Given the description of an element on the screen output the (x, y) to click on. 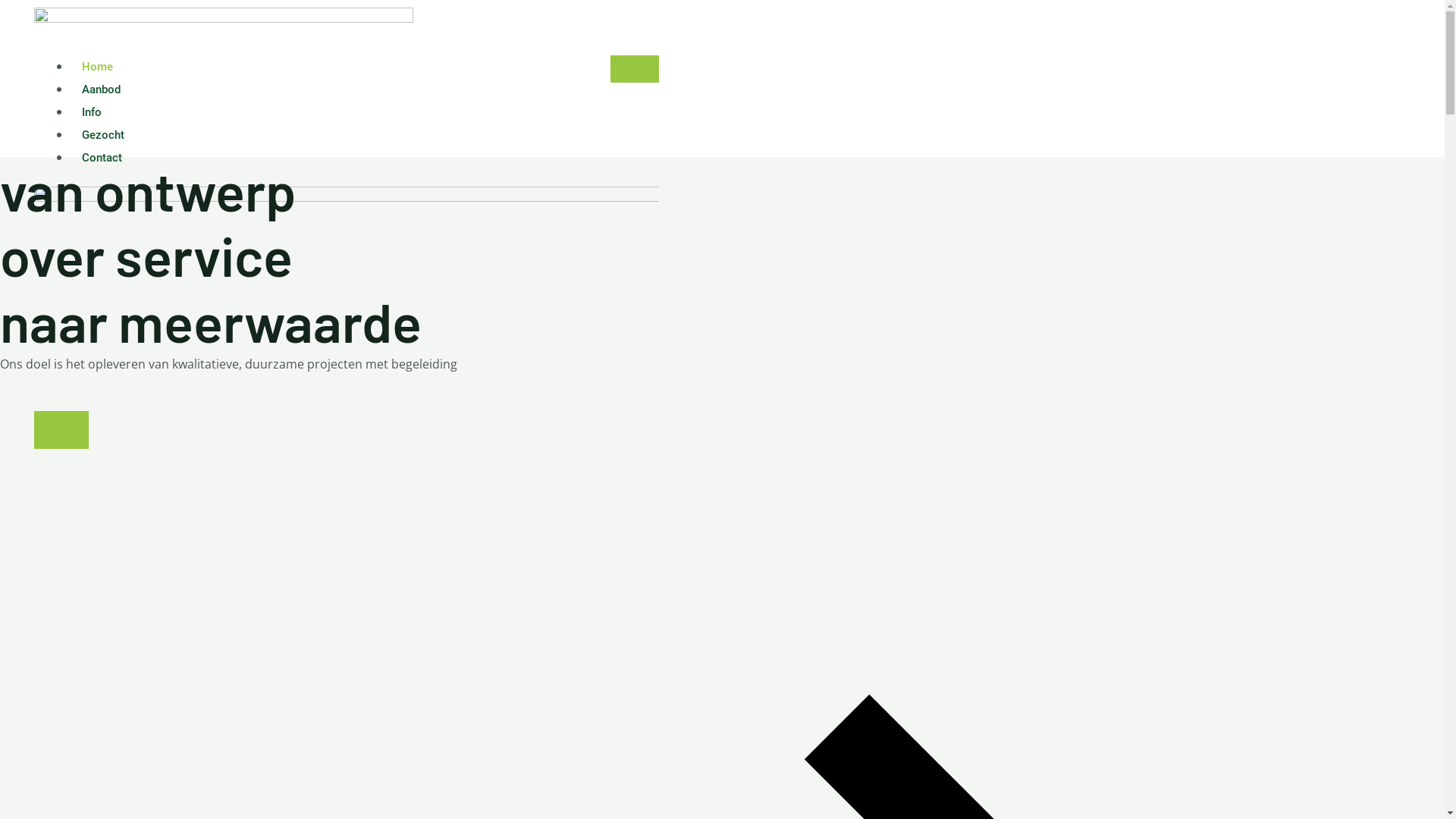
Aanbod Element type: text (100, 89)
X Element type: text (61, 429)
Home Element type: text (97, 66)
Gezocht Element type: text (102, 134)
Contact Element type: text (101, 157)
Info Element type: text (91, 112)
